Given the description of an element on the screen output the (x, y) to click on. 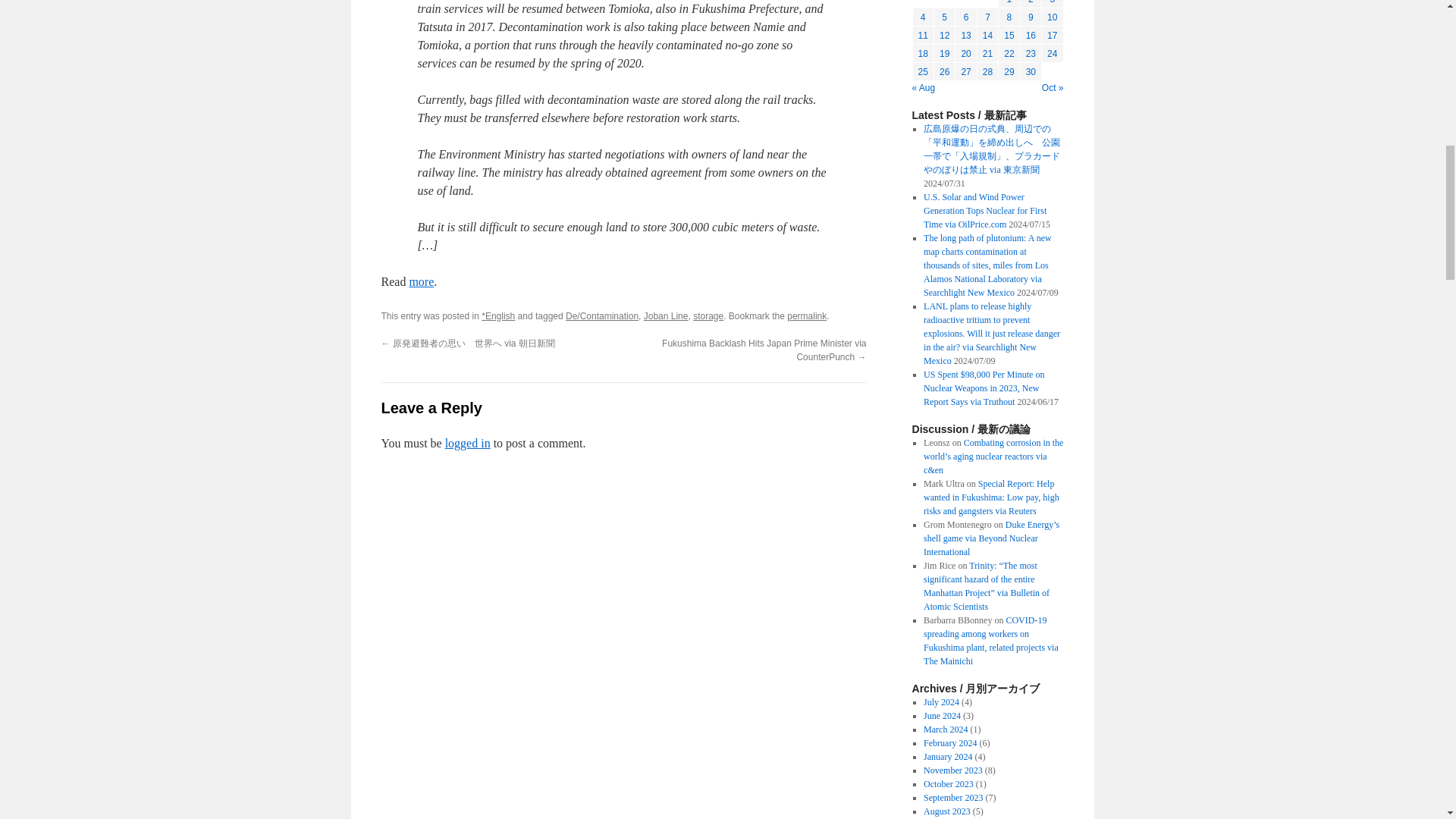
Joban Line (665, 316)
logged in (467, 442)
storage (708, 316)
permalink (807, 316)
more (421, 281)
